Given the description of an element on the screen output the (x, y) to click on. 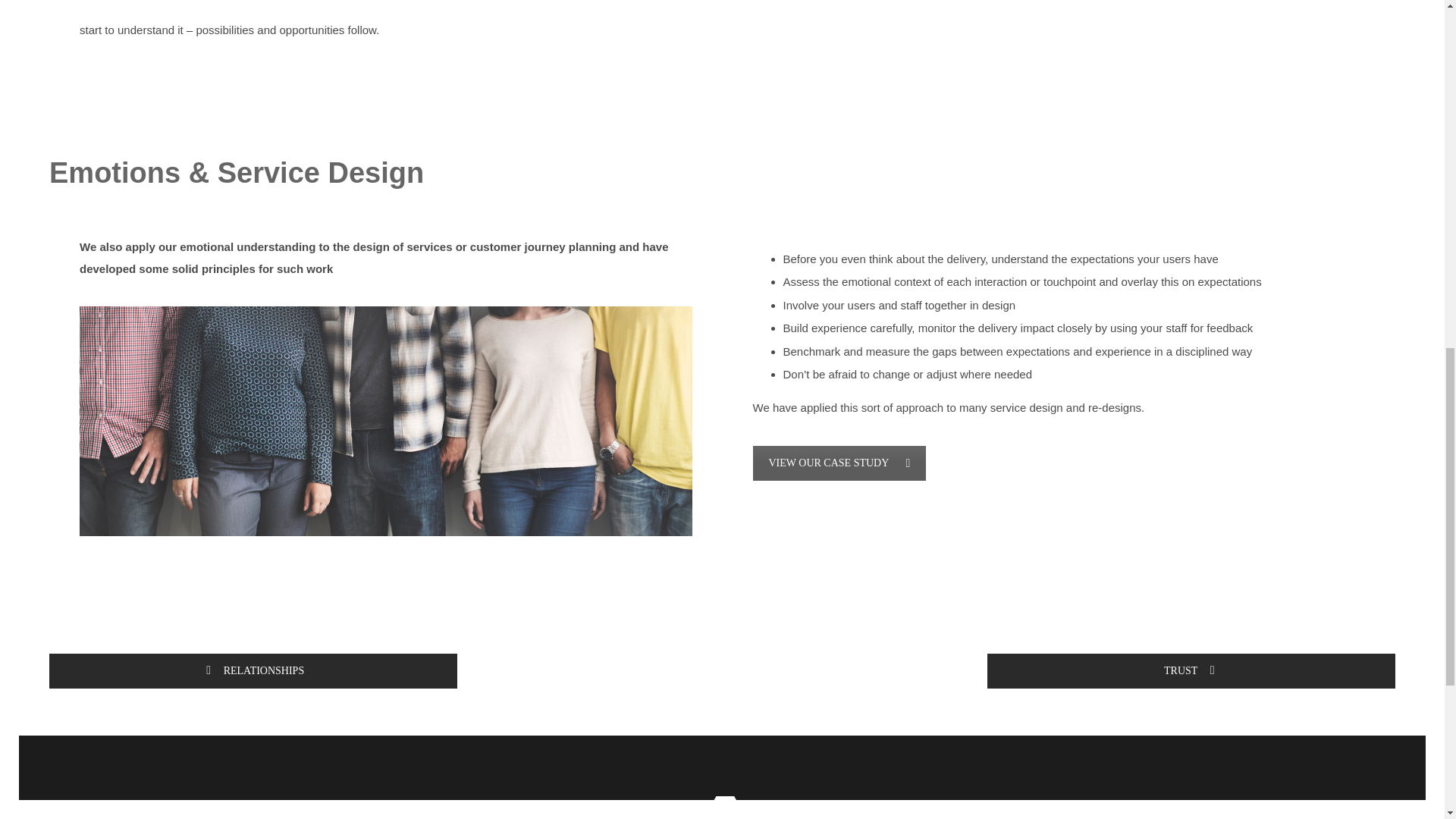
RELATIONSHIPS (253, 670)
VIEW OUR CASE STUDY (839, 462)
TRUST (1190, 670)
